Given the description of an element on the screen output the (x, y) to click on. 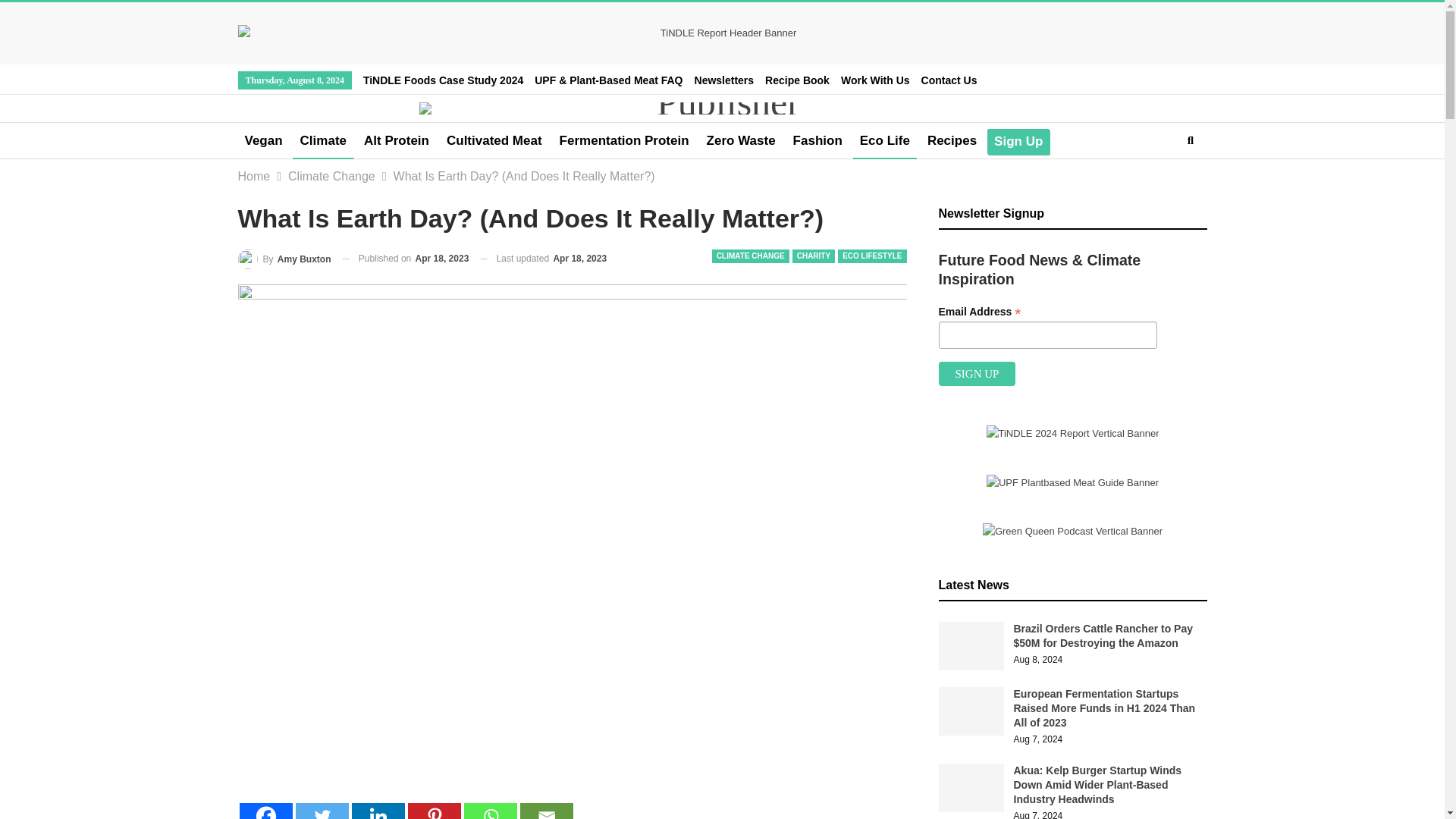
Cultivated Meat (493, 140)
Home (254, 176)
Services (875, 80)
CHARITY (813, 255)
Pinterest (434, 811)
Vegan (263, 140)
Browse Author Articles (284, 258)
Twitter (322, 811)
By Amy Buxton (284, 258)
Climate Change (331, 176)
Eco Life (885, 140)
Sign Up (1018, 141)
Recipes (952, 140)
Whatsapp (490, 811)
Recipe Book (797, 80)
